Given the description of an element on the screen output the (x, y) to click on. 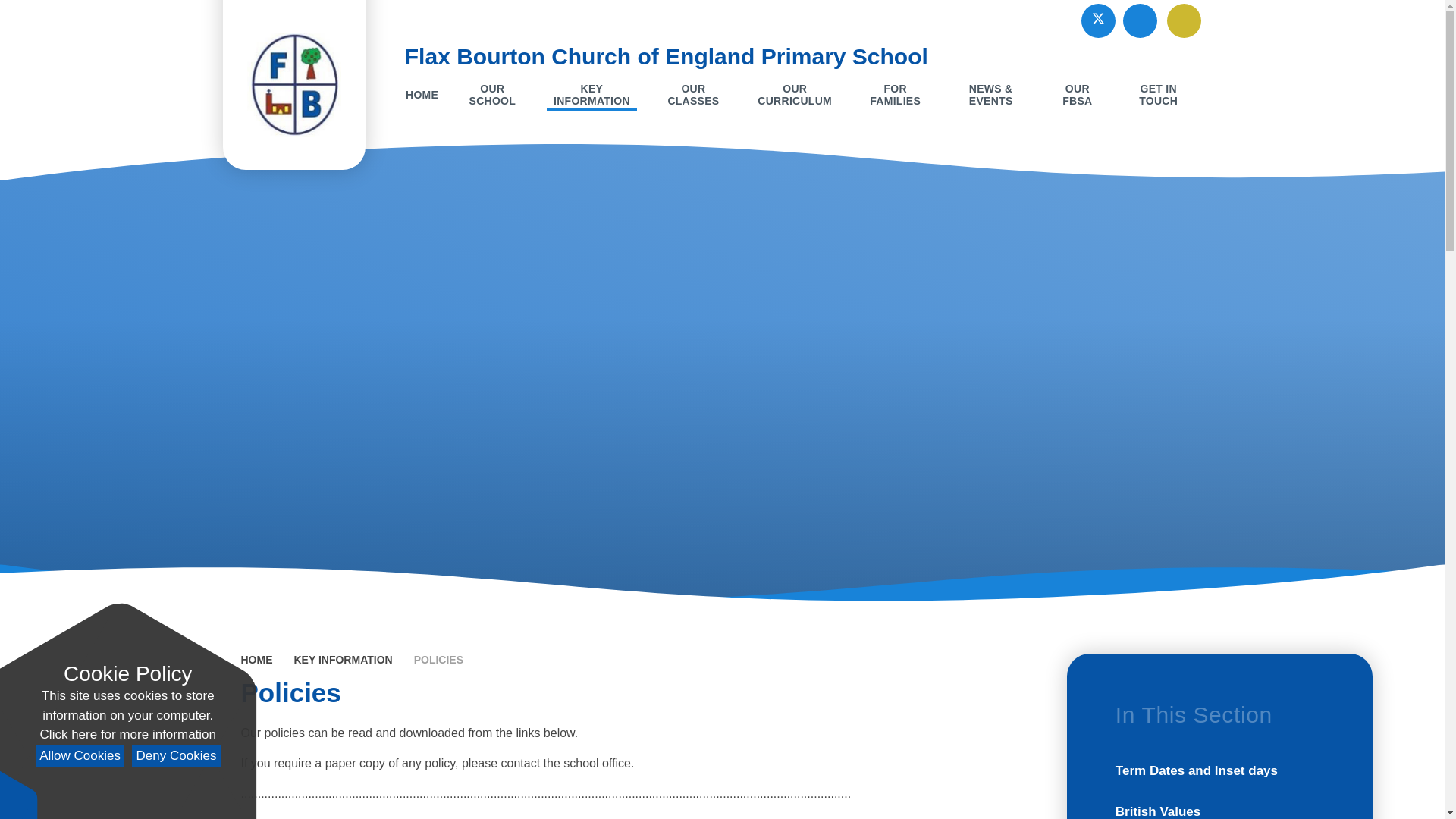
Allow Cookies (78, 756)
OUR SCHOOL (491, 94)
Cookie Settings (18, 794)
HOME (421, 94)
Deny Cookies (175, 756)
KEY INFORMATION (591, 94)
See cookie policy (127, 734)
